Given the description of an element on the screen output the (x, y) to click on. 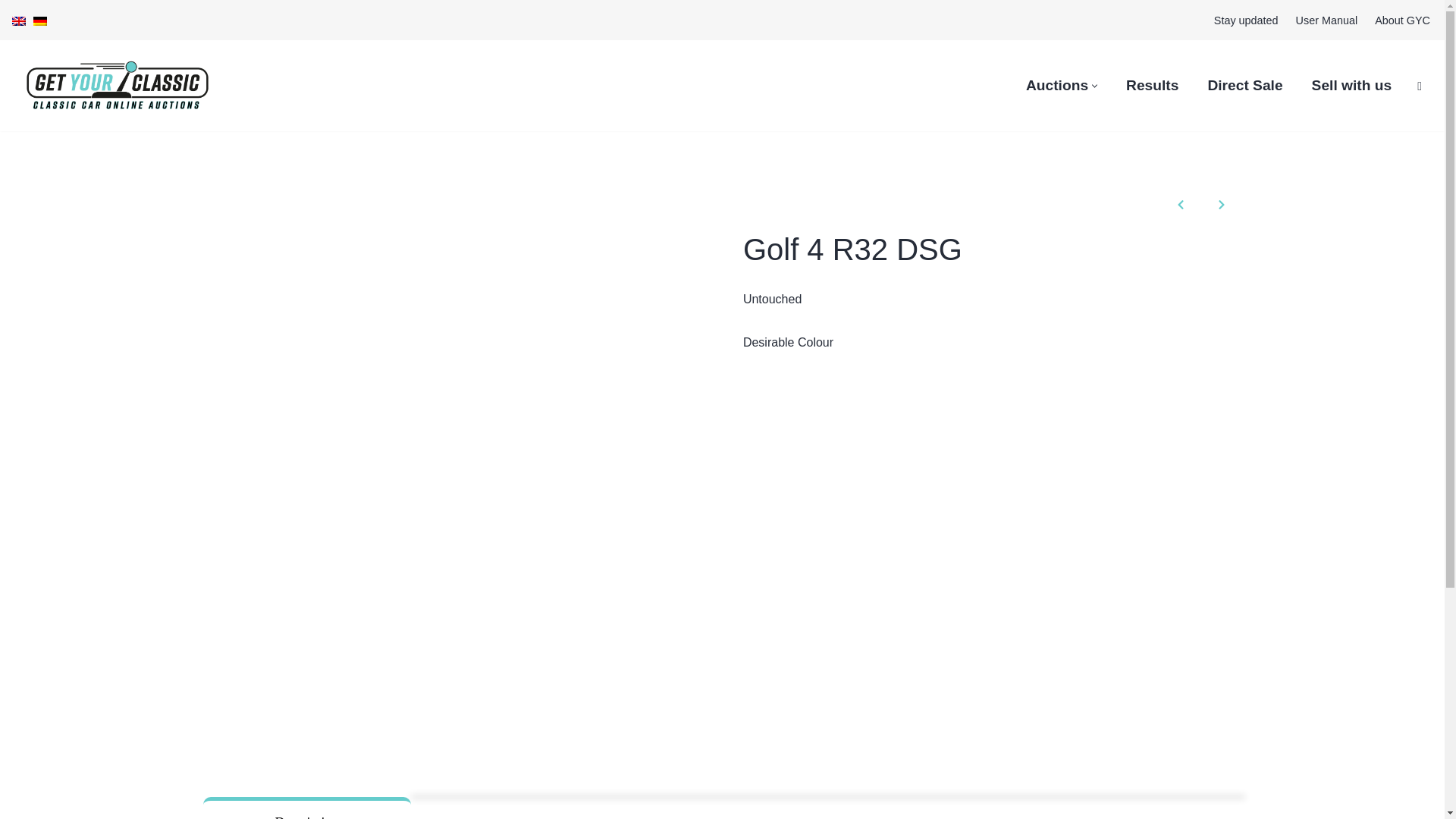
User Manual (1326, 20)
Auctions (1056, 85)
Results (1151, 85)
Direct Sale (1244, 85)
Skip to content (11, 31)
About GYC (1401, 20)
Stay updated (1246, 20)
Sell with us (1351, 85)
